Given the description of an element on the screen output the (x, y) to click on. 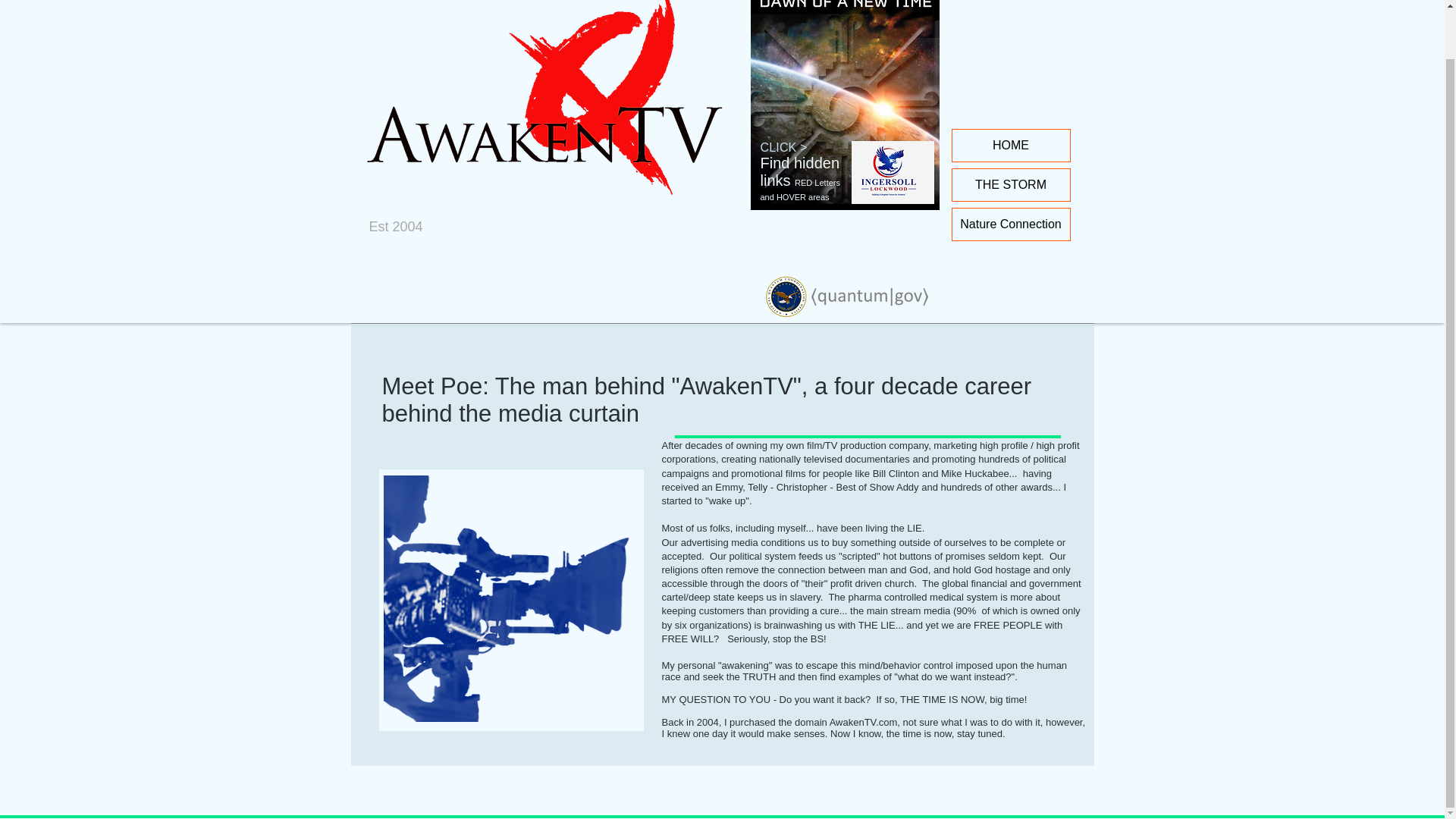
HOME (1011, 145)
Nature Connection (1011, 224)
THE STORM (1011, 184)
AwakenTV-logo.png (557, 113)
